Given the description of an element on the screen output the (x, y) to click on. 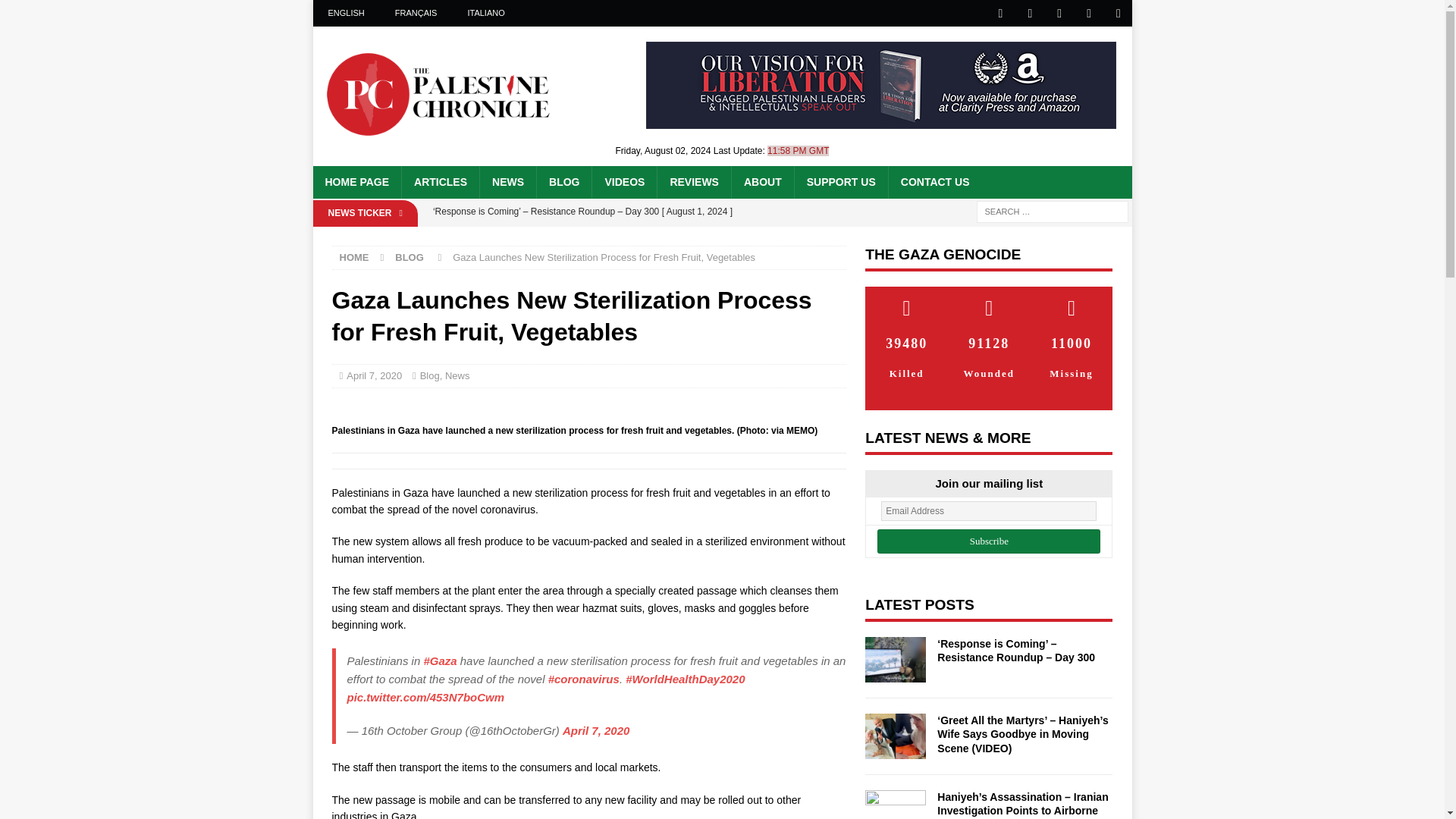
April 7, 2020 (373, 375)
CONTACT US (934, 182)
Blog (429, 375)
Search (56, 11)
BLOG (408, 256)
HOME PAGE (357, 182)
ABOUT (761, 182)
ITALIANO (485, 13)
BLOG (563, 182)
ENGLISH (345, 13)
News (457, 375)
NEWS (507, 182)
SUPPORT US (840, 182)
VIDEOS (623, 182)
